Given the description of an element on the screen output the (x, y) to click on. 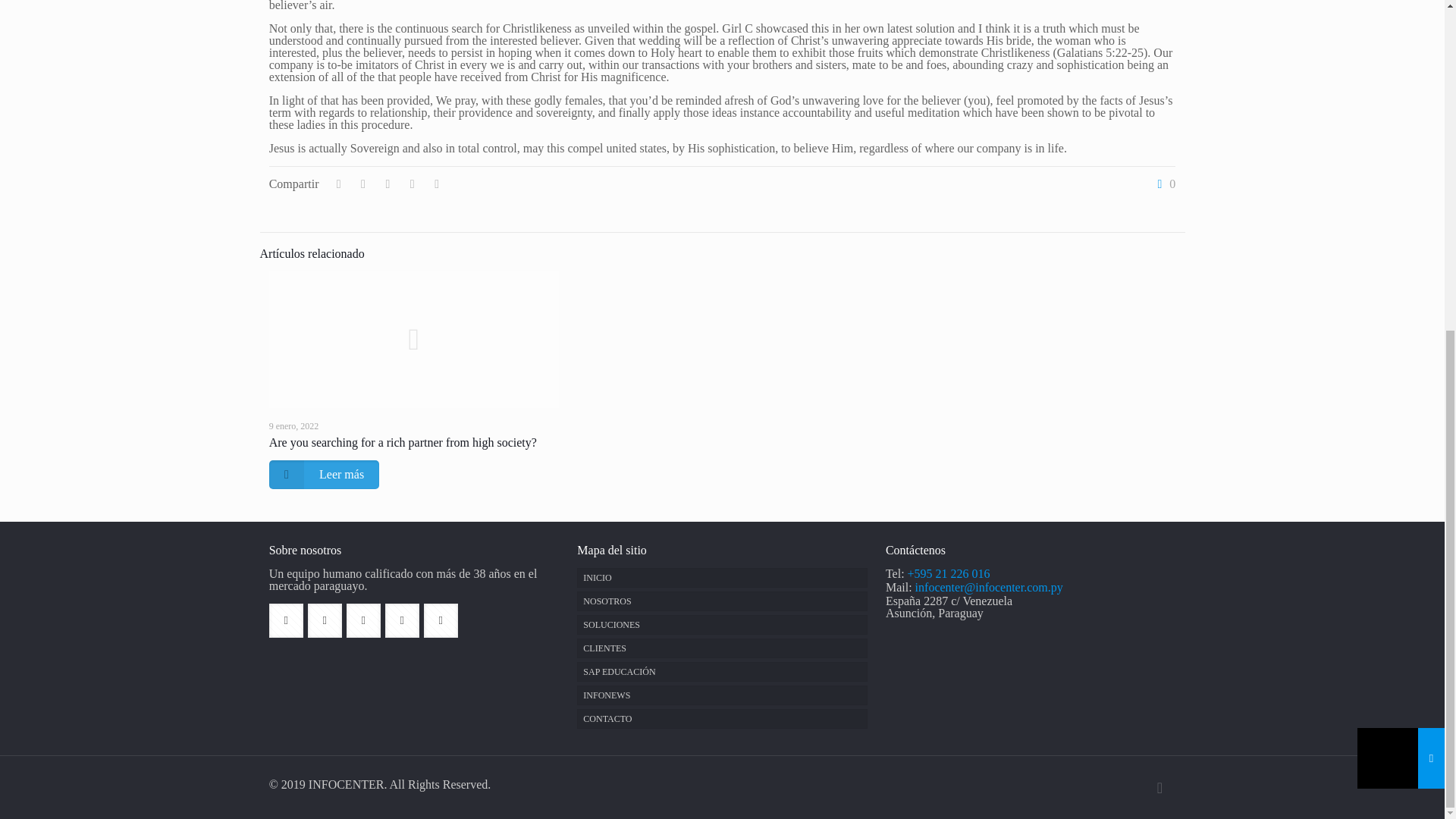
CONTACTO (721, 718)
INFONEWS (721, 695)
SOLUCIONES (721, 624)
CLIENTES (721, 648)
NOSOTROS (721, 600)
0 (1162, 184)
Are you searching for a rich partner from high society? (403, 441)
INICIO (721, 578)
